Given the description of an element on the screen output the (x, y) to click on. 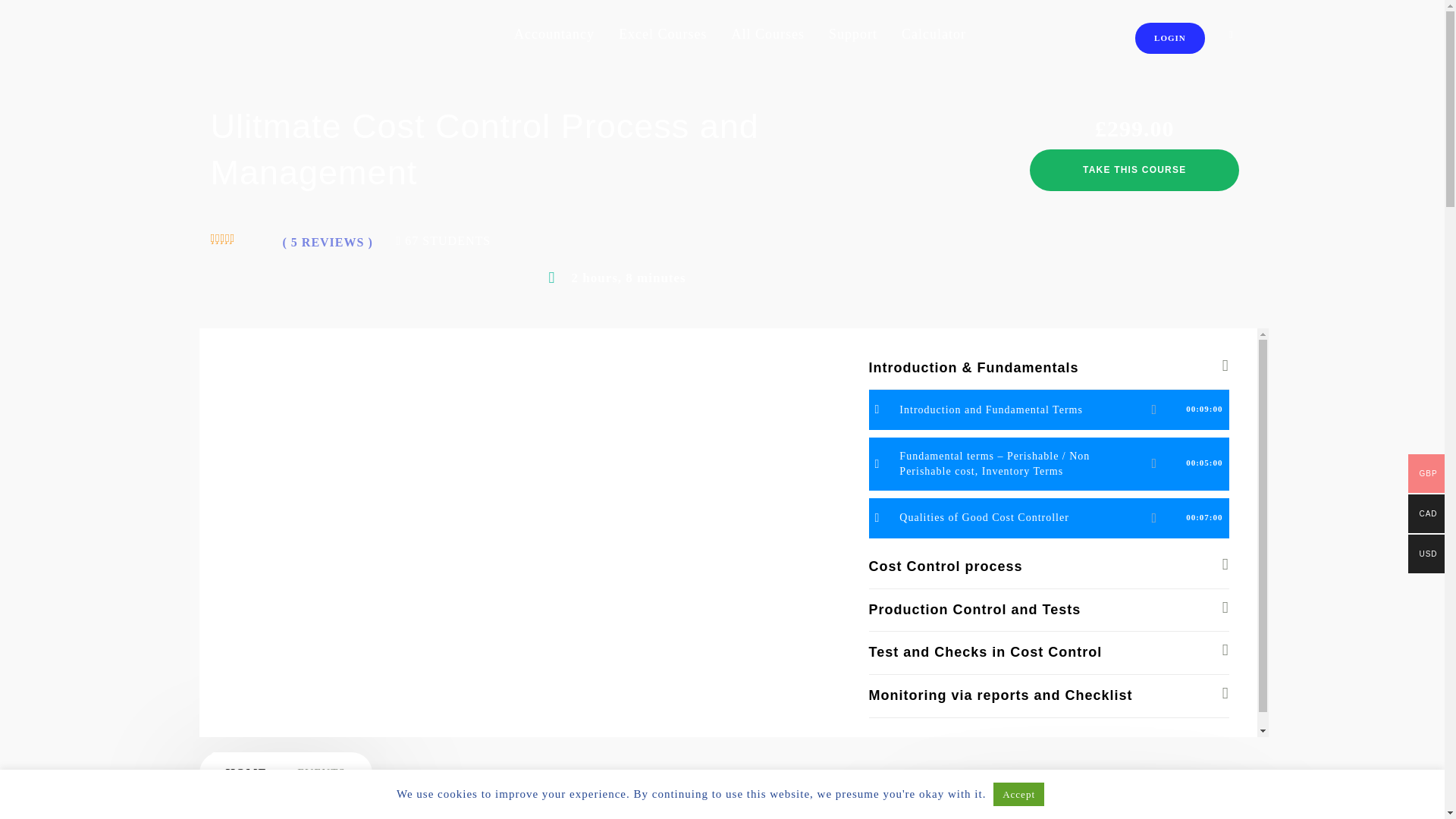
LOGIN (1170, 42)
Calculator (933, 34)
HOME (246, 772)
Support (853, 34)
Excel Courses (662, 34)
EVENTS (321, 772)
TAKE THIS COURSE (1134, 169)
Ulitmate Cost Control Process and Management (358, 336)
Accountancy (553, 34)
All Courses (767, 34)
